Given the description of an element on the screen output the (x, y) to click on. 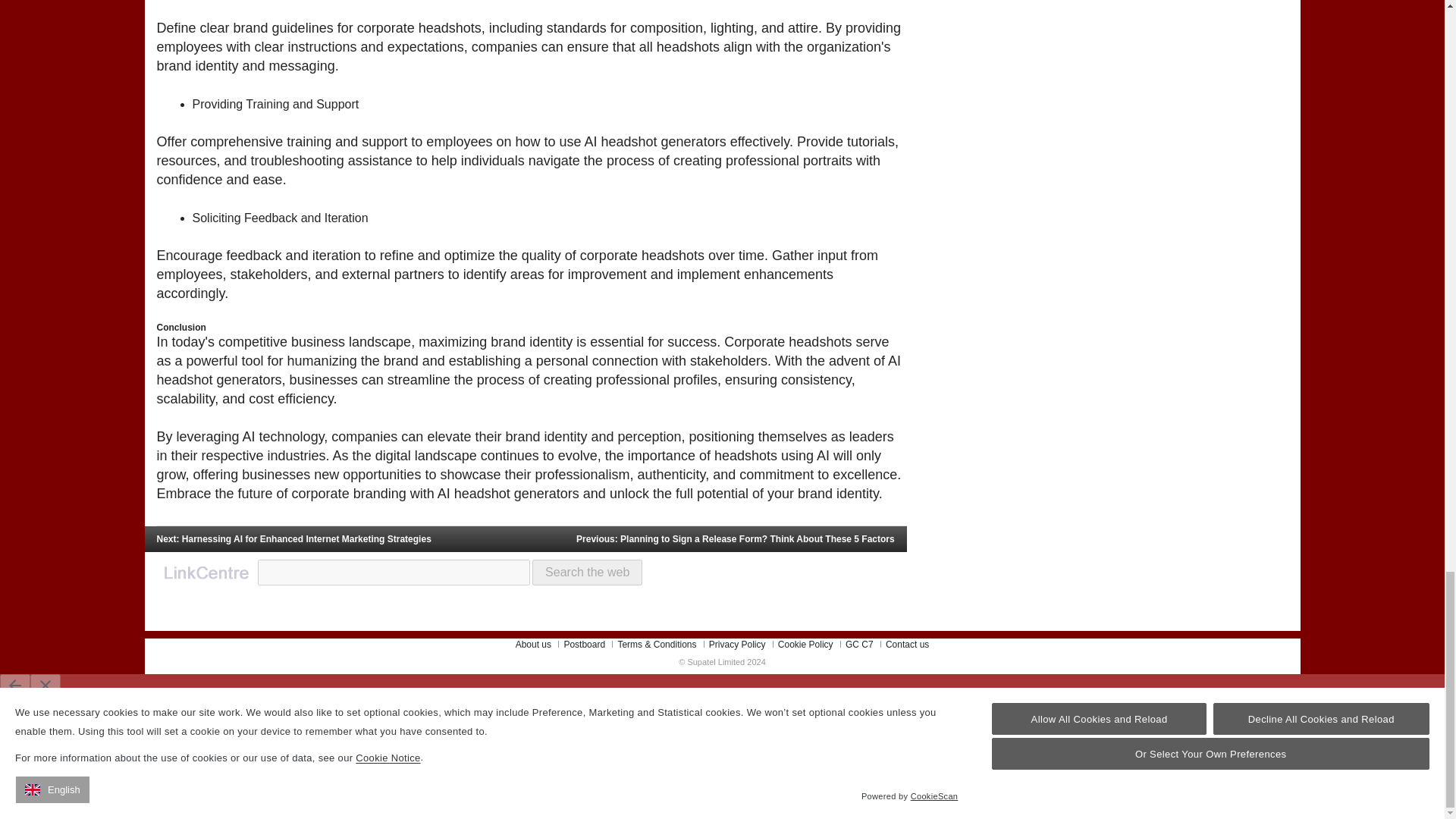
Search the web (587, 572)
Search the web (587, 572)
